Given the description of an element on the screen output the (x, y) to click on. 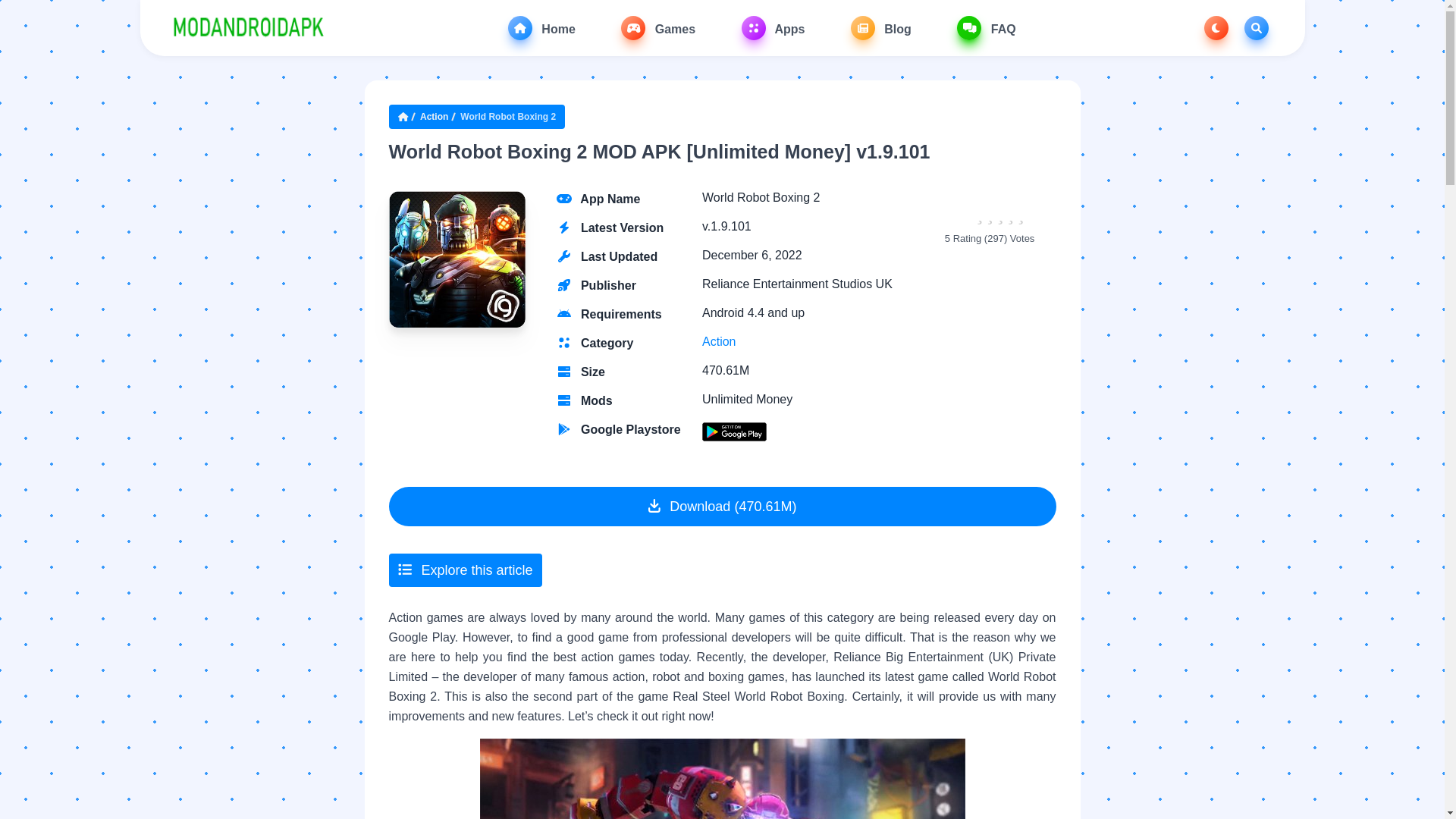
Home (541, 27)
Search (1255, 27)
Apps (773, 27)
Blog (880, 27)
Games (658, 27)
Action (718, 341)
Dark Mode (1216, 27)
FAQ (985, 27)
Explore this article (464, 570)
Action (433, 116)
